Given the description of an element on the screen output the (x, y) to click on. 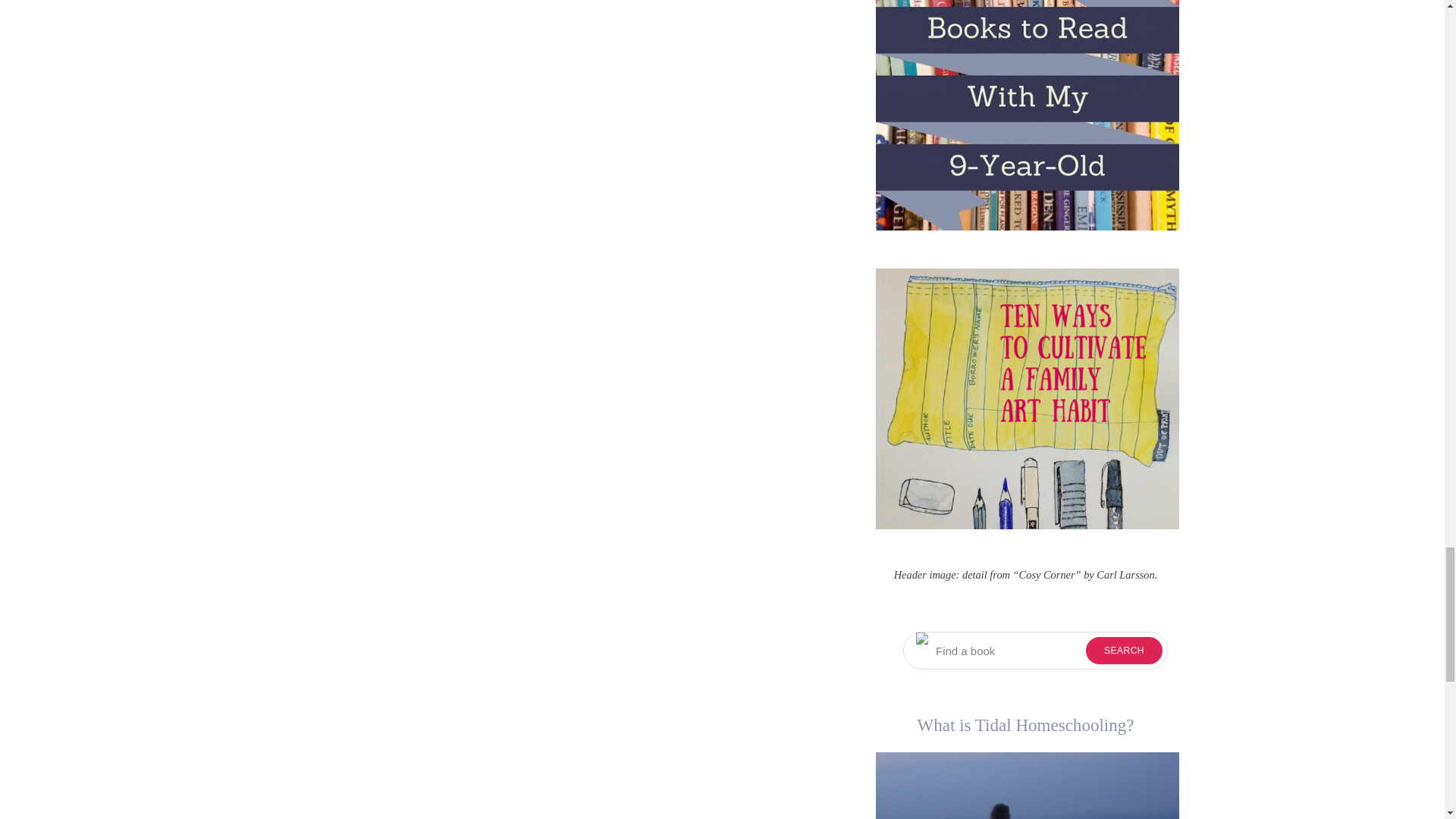
What is Tidal Homeschooling? (1026, 785)
